Given the description of an element on the screen output the (x, y) to click on. 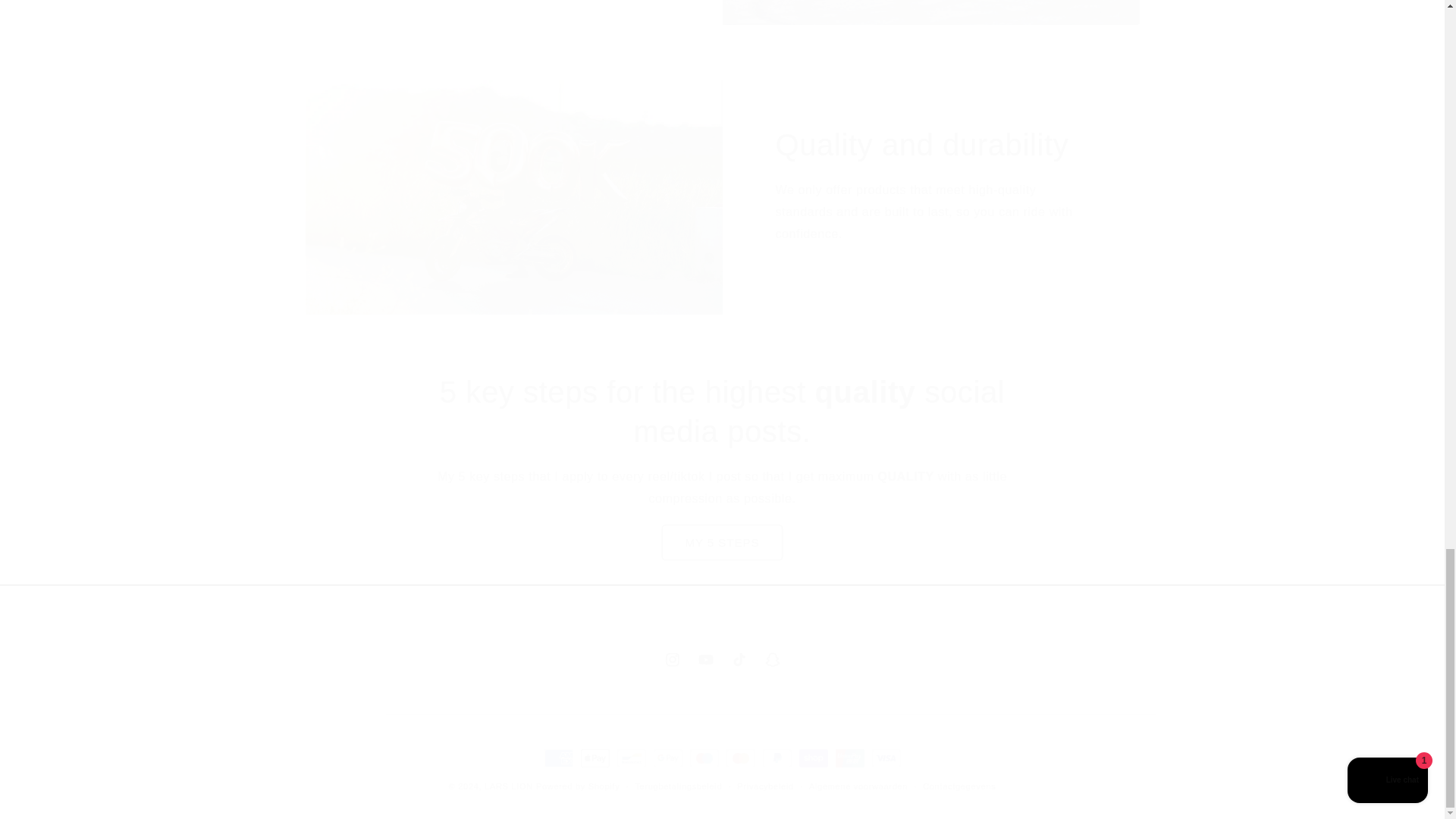
YouTube (705, 659)
Snapchat (772, 659)
5 key steps for the highest quality social media posts. (721, 411)
TikTok (738, 659)
LARS LION (508, 786)
MY 5 STEPS (722, 542)
Instagram (671, 659)
MY 5 STEPS (721, 659)
